Given the description of an element on the screen output the (x, y) to click on. 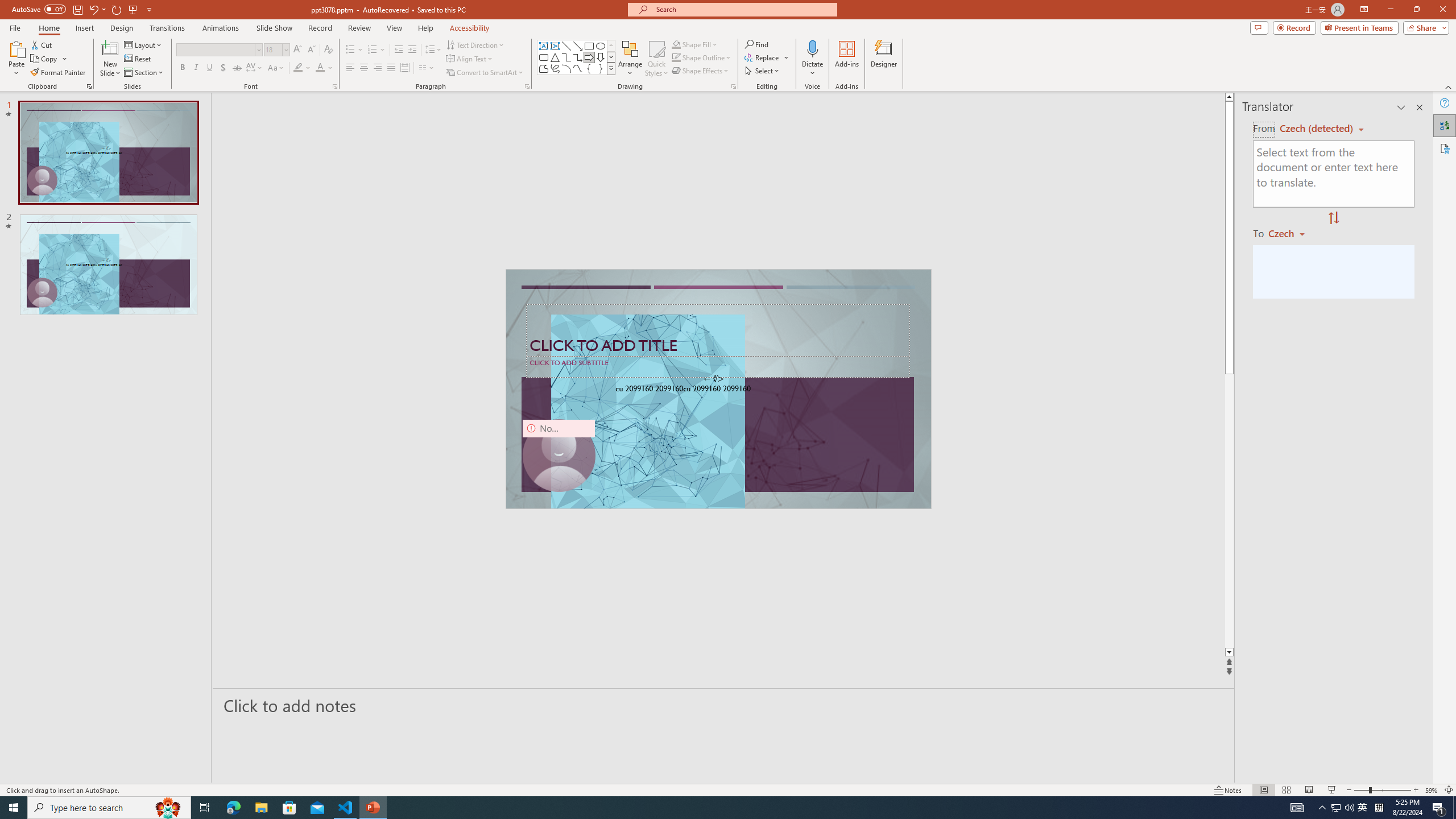
TextBox 7 (713, 378)
